Given the description of an element on the screen output the (x, y) to click on. 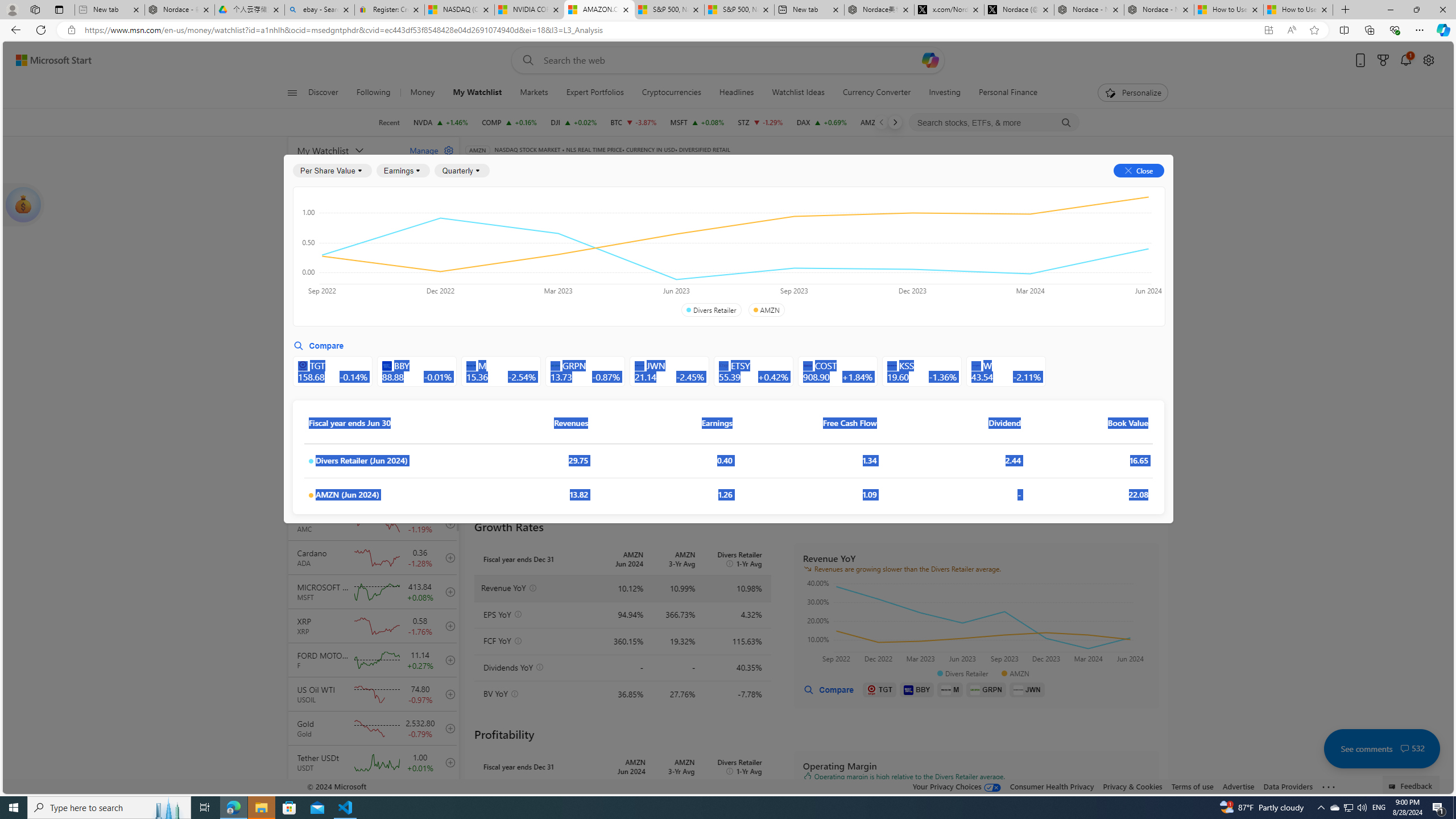
Earnings (402, 170)
Consumer Health Privacy (1051, 785)
Headlines (736, 92)
Money (422, 92)
add to your watchlist (447, 796)
Previous (881, 122)
Compare (722, 166)
Investing (944, 92)
Watchlist Ideas (798, 92)
Analysis (901, 188)
My Watchlist (346, 150)
App available. Install Start Money (1268, 29)
S&P 500, Nasdaq end lower, weighed by Nvidia dip | Watch (738, 9)
